Given the description of an element on the screen output the (x, y) to click on. 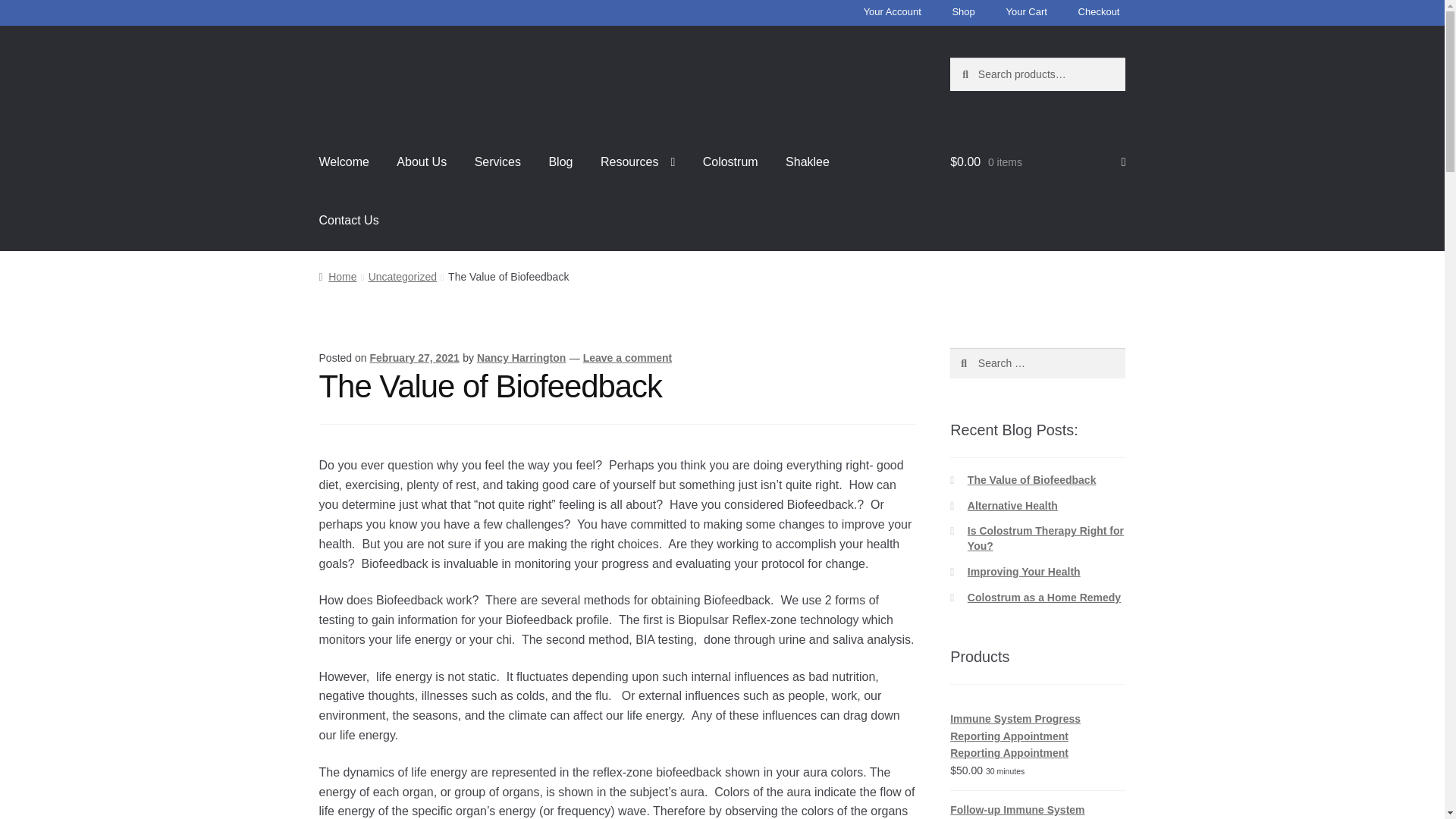
View your shopping cart (1037, 161)
Contact Us (349, 220)
Checkout (1098, 13)
Your Cart (1025, 13)
Resources (637, 161)
Services (497, 161)
Shop (961, 13)
Shaklee (807, 161)
Blog (560, 161)
About Us (421, 161)
Your Account (892, 13)
